Given the description of an element on the screen output the (x, y) to click on. 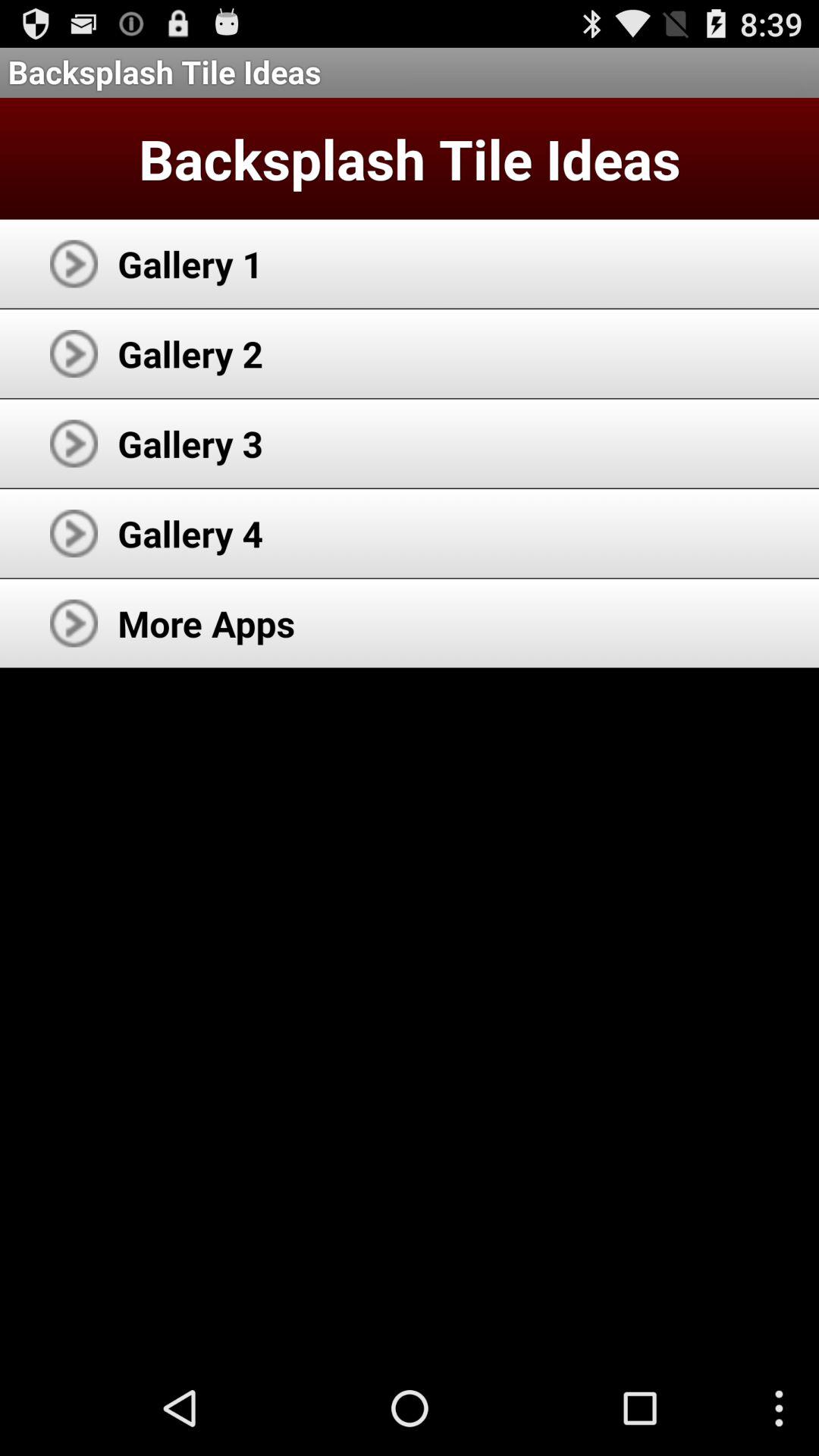
turn off icon below gallery 2 item (190, 443)
